Given the description of an element on the screen output the (x, y) to click on. 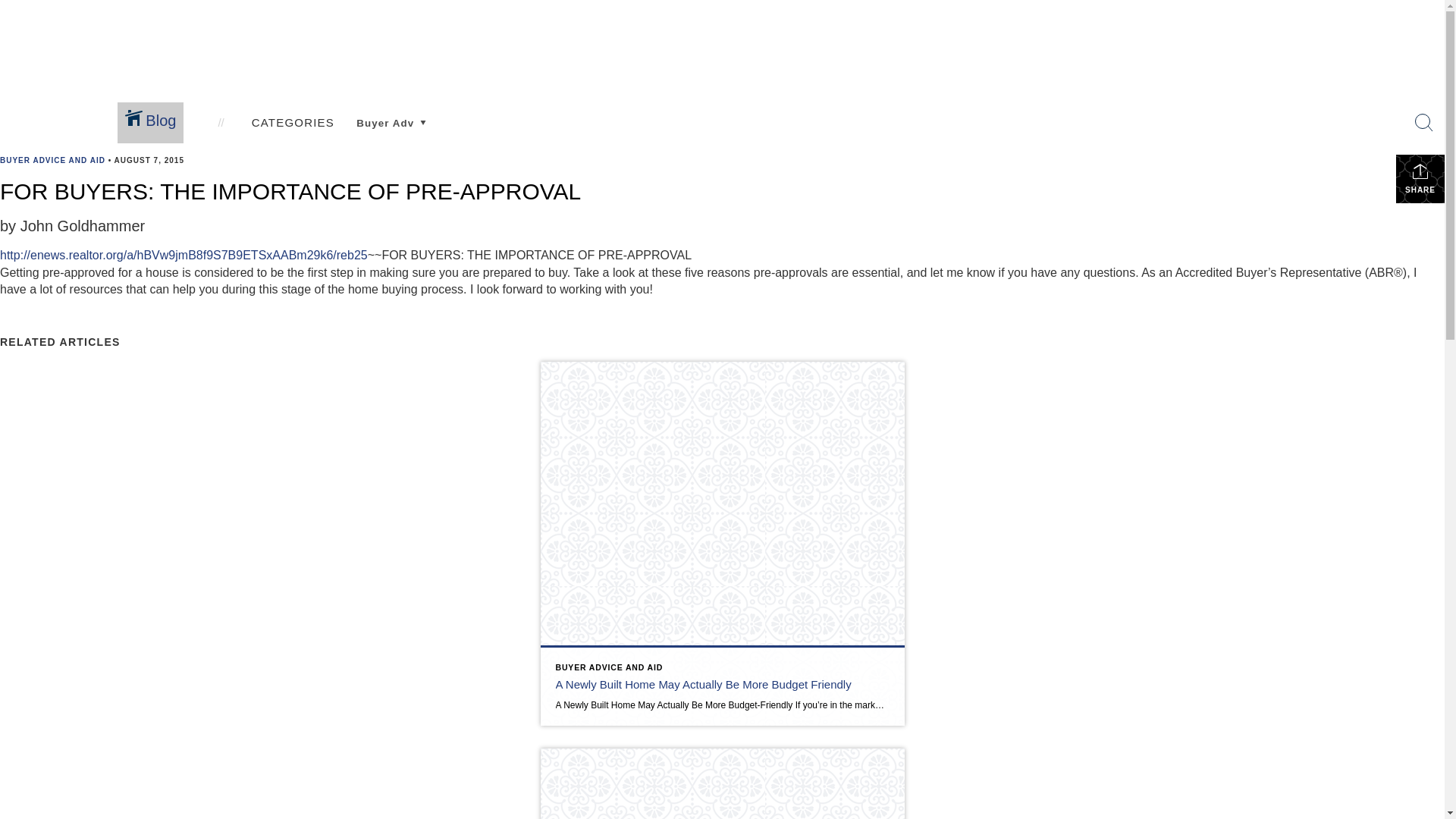
My Office's Listings (559, 120)
Financial Calculators (696, 132)
Blog (930, 88)
BUYER ADVICE AND AID (52, 160)
Windermere Blog (968, 132)
Orenco Neighborhood (419, 135)
Neighborhood News (173, 135)
Properties (529, 75)
Contact Me (864, 132)
My Bio (853, 120)
My Blog (943, 120)
Property Search (294, 135)
Blog (150, 122)
My Active Listings (554, 107)
Featured Properties (559, 132)
